Given the description of an element on the screen output the (x, y) to click on. 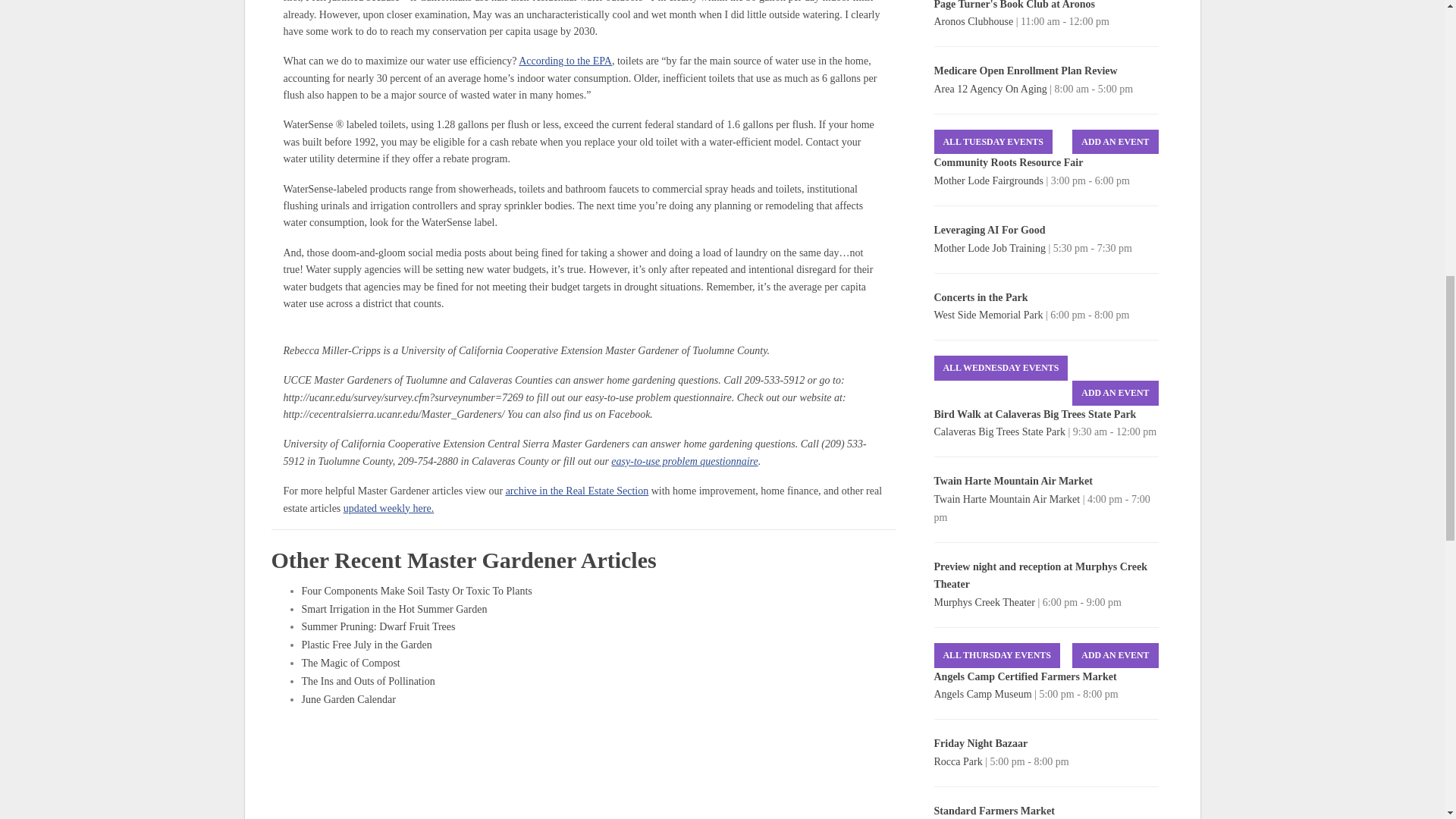
All Wednesday Events (1001, 367)
All Thursday Events (996, 655)
Add An Event (1114, 392)
Add An Event (1114, 655)
All Tuesday Events (993, 141)
Add An Event (1114, 141)
